Given the description of an element on the screen output the (x, y) to click on. 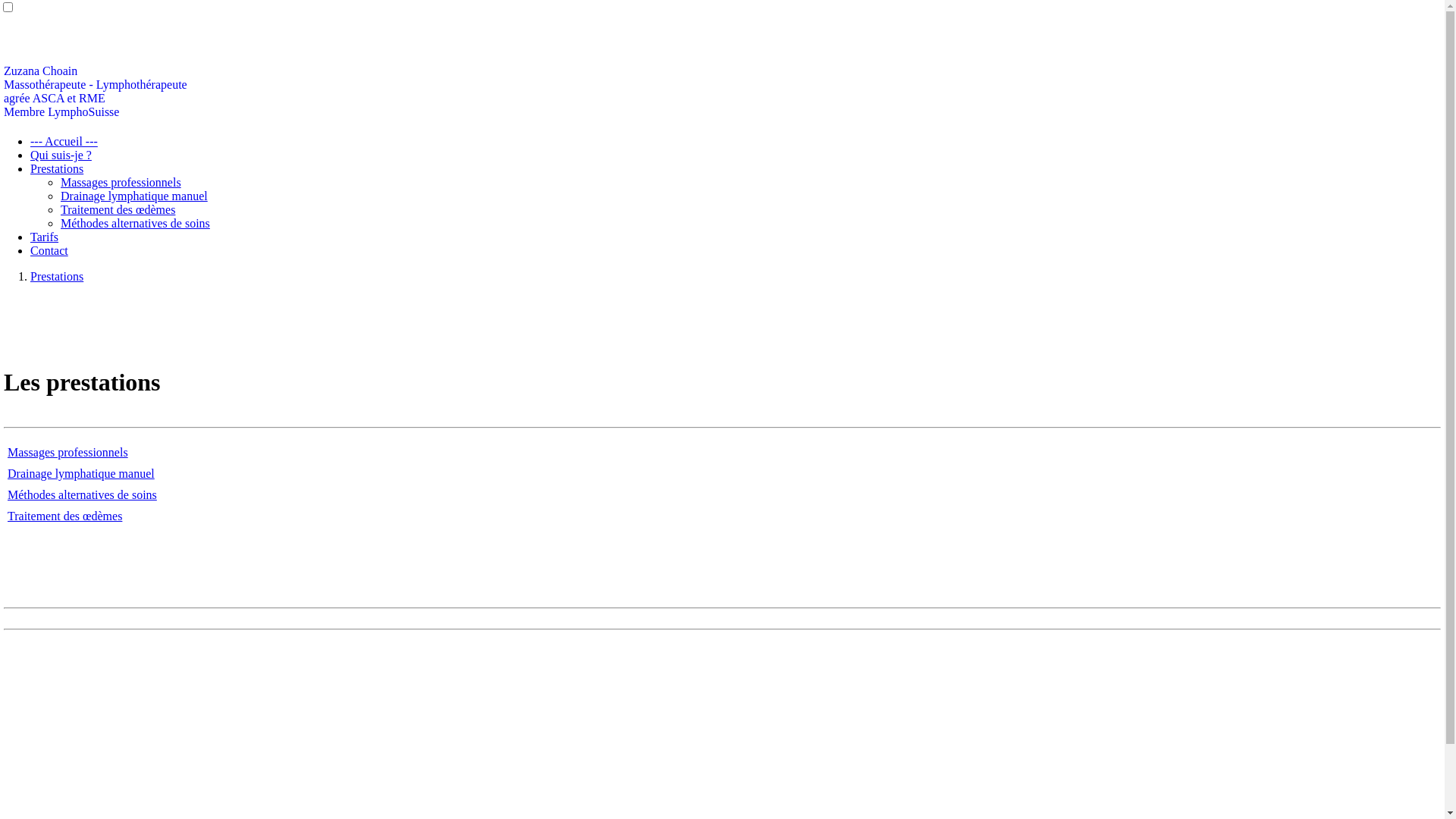
Contact Element type: text (49, 250)
Tarifs Element type: text (44, 236)
Prestations Element type: text (56, 275)
Drainage lymphatique manuel Element type: text (133, 195)
Massages professionnels Element type: text (120, 181)
Qui suis-je ? Element type: text (60, 154)
Prestations Element type: text (56, 168)
--- Accueil --- Element type: text (63, 140)
Massages professionnels Element type: text (67, 451)
Drainage lymphatique manuel Element type: text (80, 473)
